Given the description of an element on the screen output the (x, y) to click on. 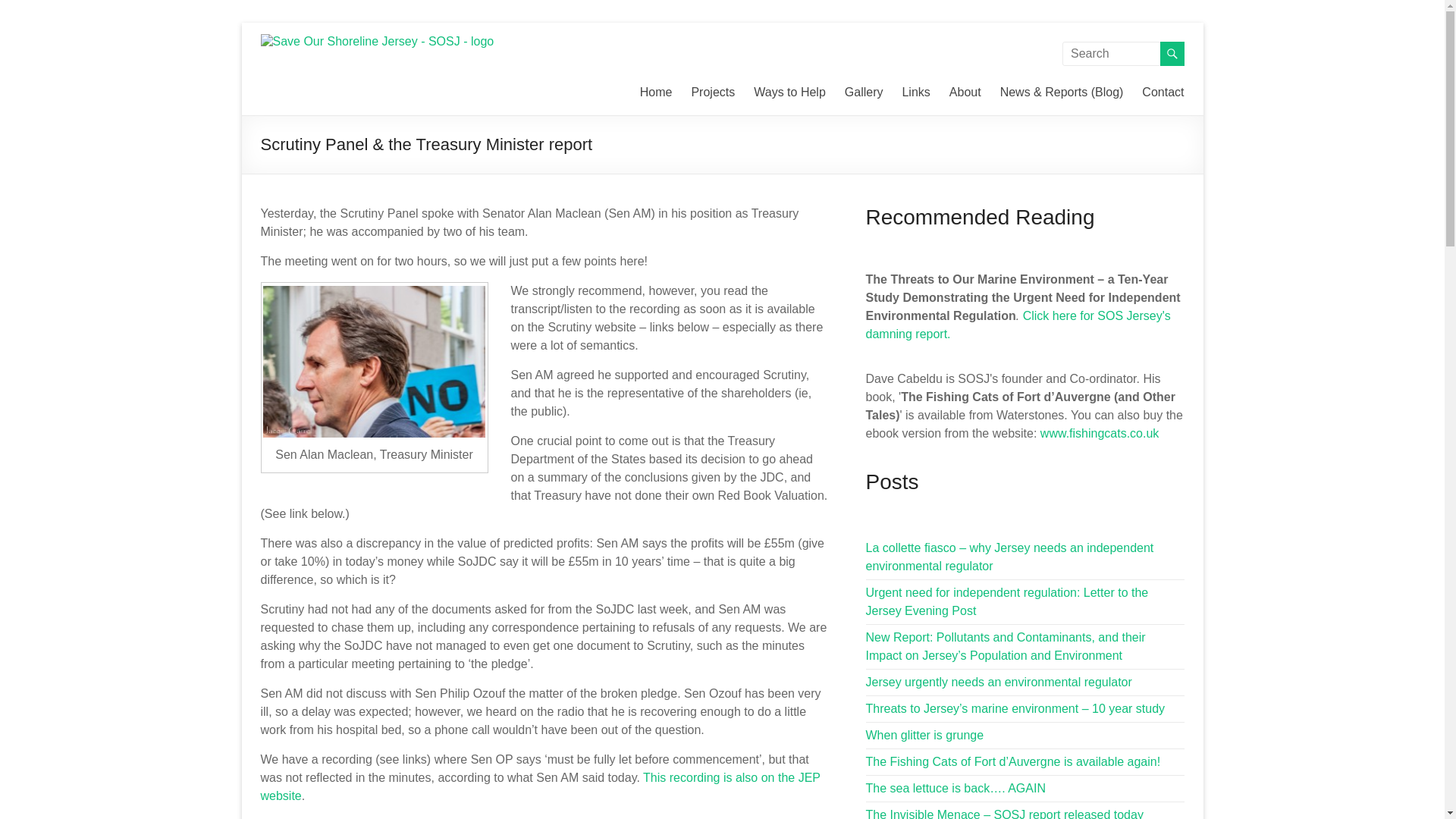
This recording is also on the JEP website (540, 786)
SOS Jersey (299, 68)
About (965, 92)
SOS Jersey (299, 68)
Home (656, 92)
Gallery (863, 92)
Ways to Help (789, 92)
Contact (1162, 92)
Projects (712, 92)
Links (915, 92)
